Given the description of an element on the screen output the (x, y) to click on. 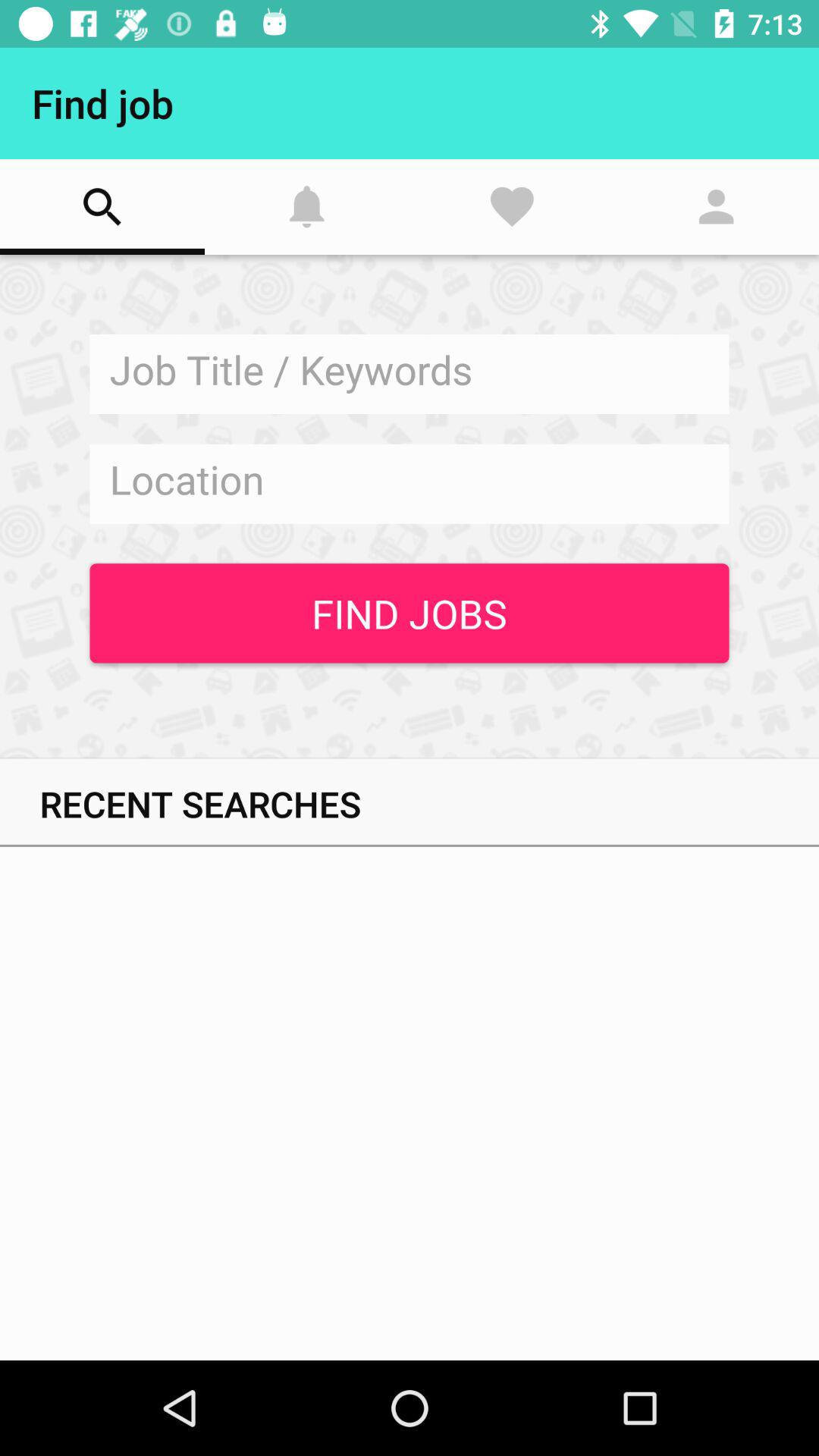
job title search field (409, 374)
